Given the description of an element on the screen output the (x, y) to click on. 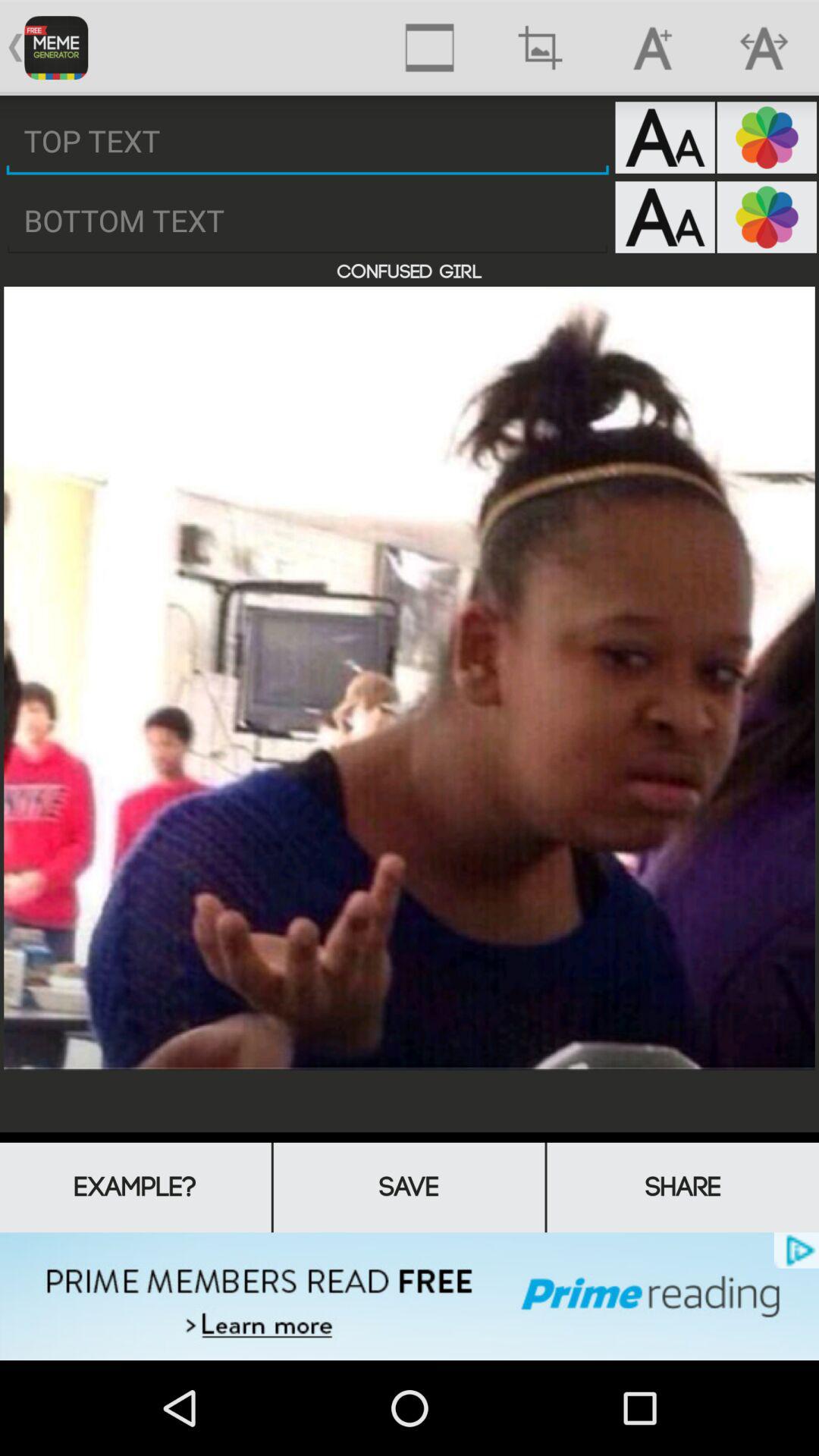
color edit (766, 137)
